Given the description of an element on the screen output the (x, y) to click on. 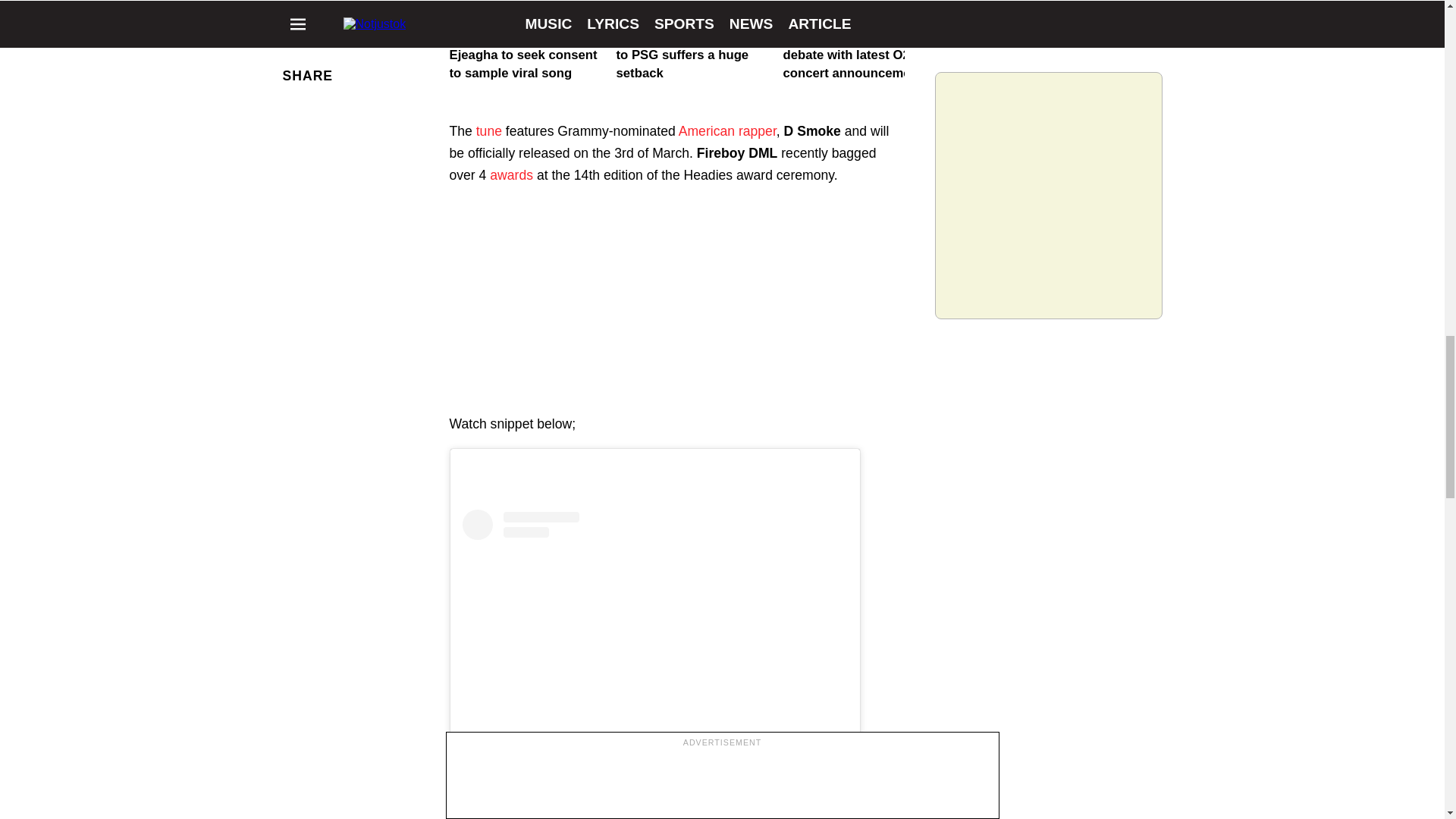
Sports (635, 9)
News (466, 9)
